Given the description of an element on the screen output the (x, y) to click on. 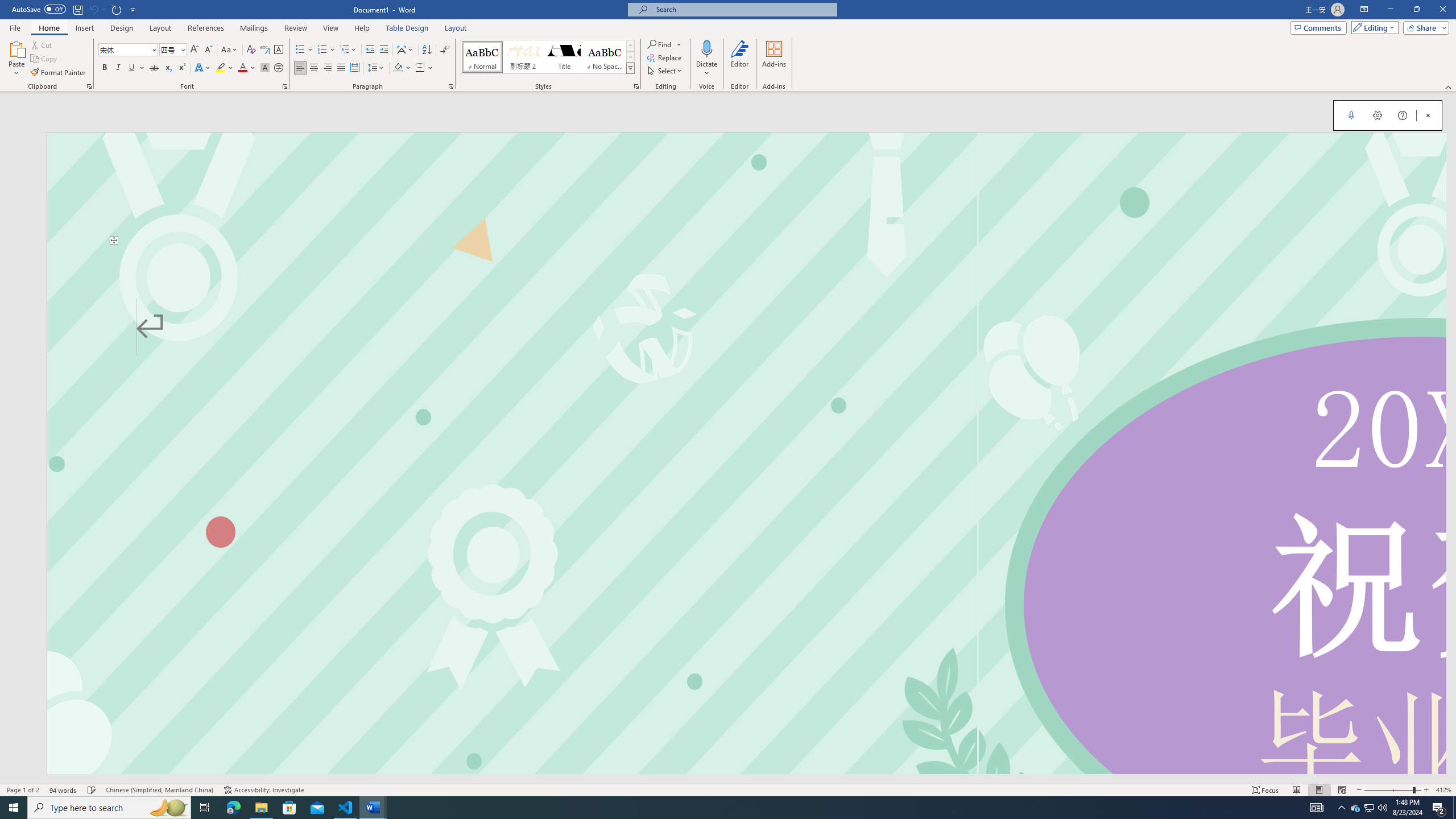
Dictation Settings (1377, 115)
Can't Undo (96, 9)
First Page Header -Section 1- (745, 187)
Replace... (665, 56)
Multilevel List (347, 49)
